Given the description of an element on the screen output the (x, y) to click on. 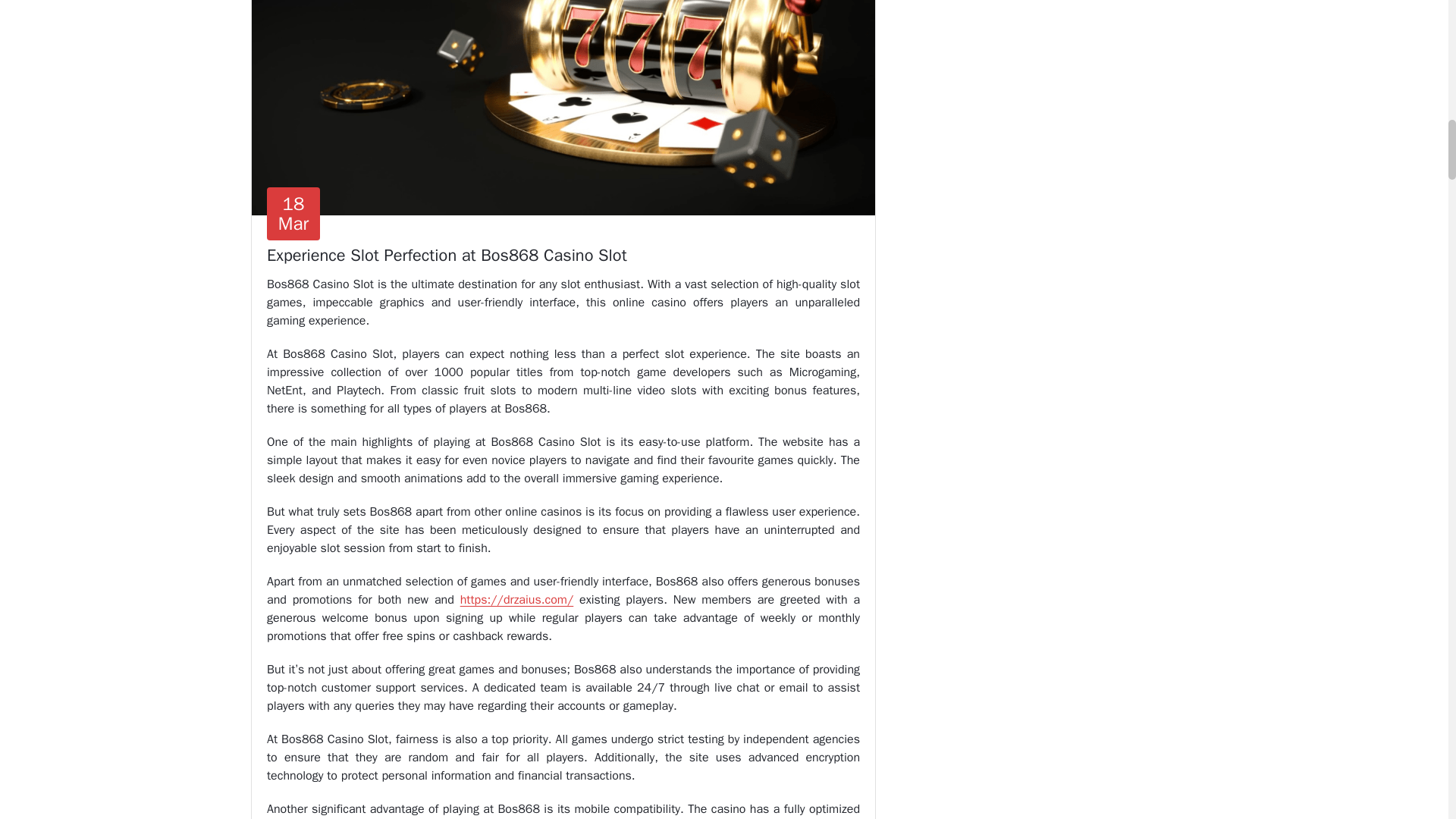
Experience Slot Perfection at Bos868 Casino Slot (293, 213)
